Given the description of an element on the screen output the (x, y) to click on. 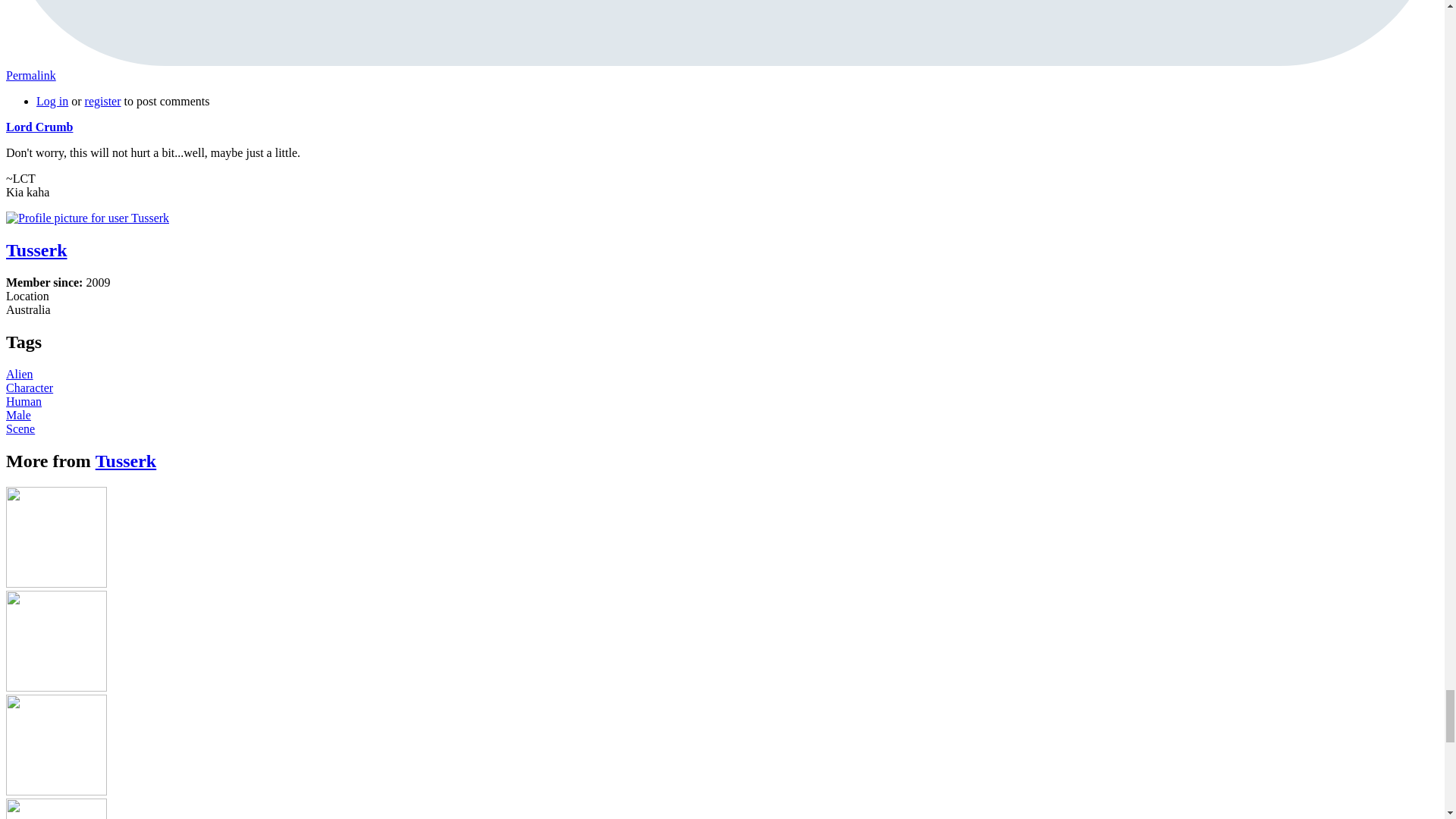
Permalink (30, 74)
View user profile. (38, 126)
View user profile. (125, 460)
